Given the description of an element on the screen output the (x, y) to click on. 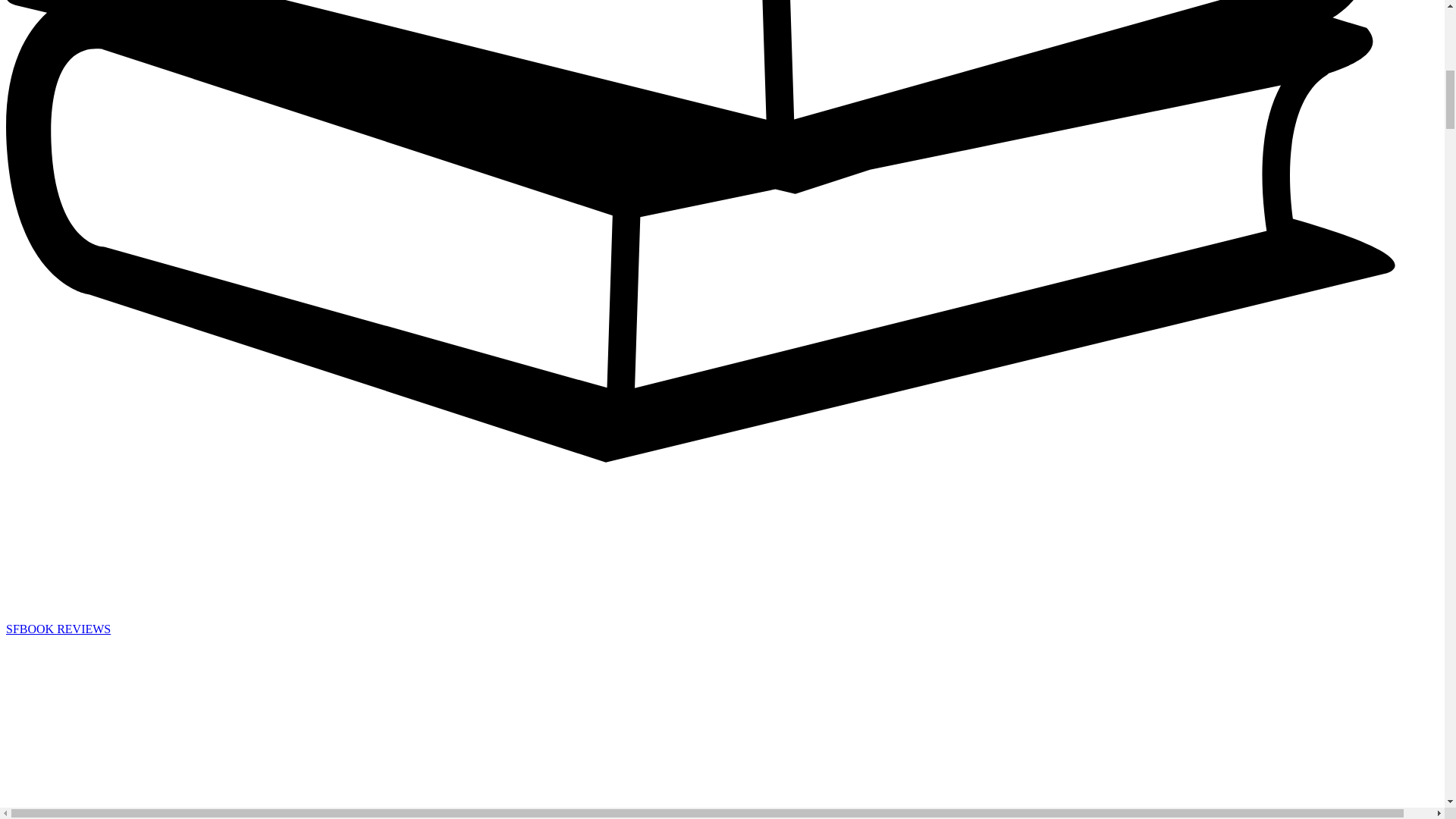
SFBOOK REVIEWS (57, 628)
